Given the description of an element on the screen output the (x, y) to click on. 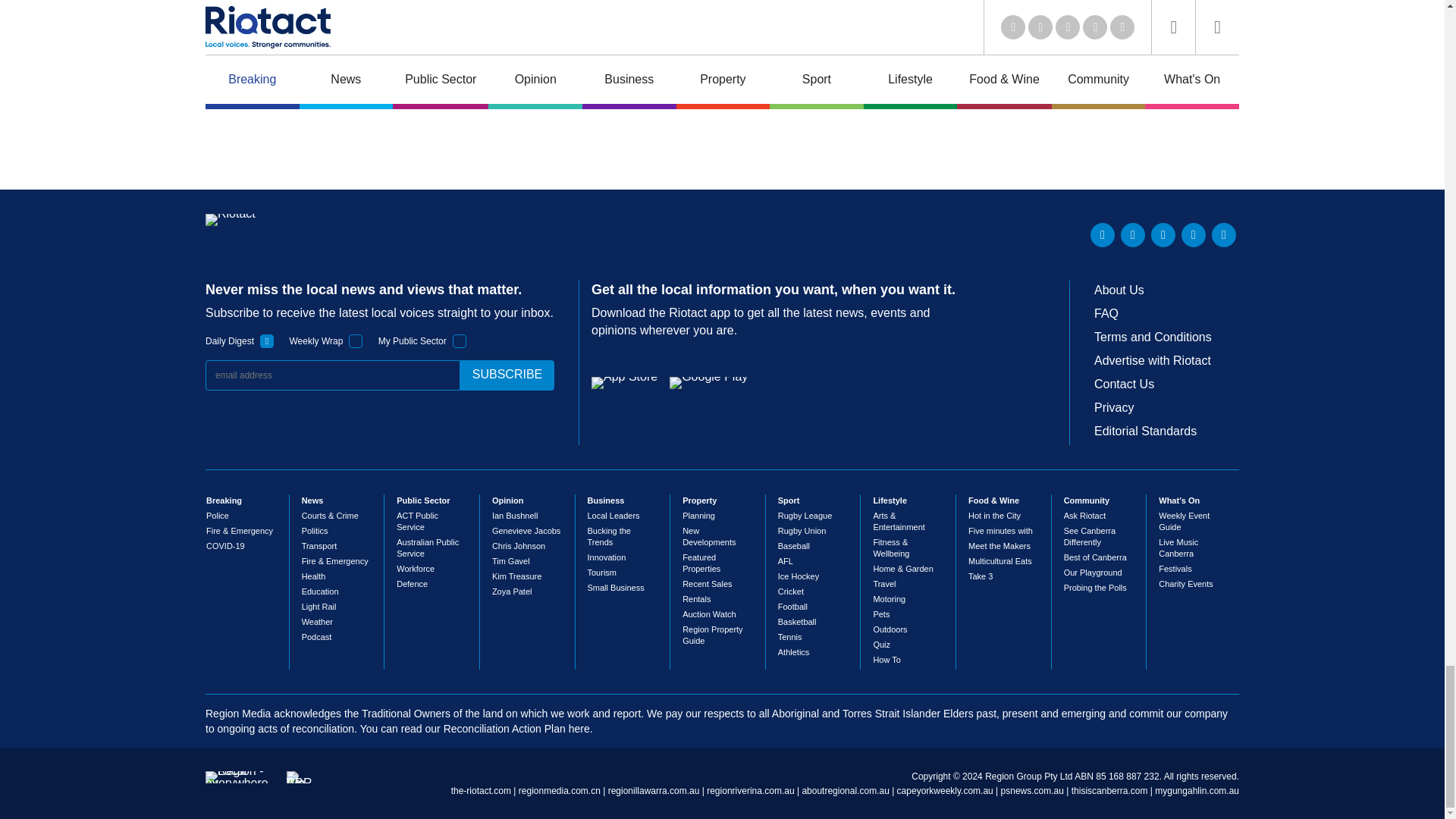
subscribe (507, 375)
1 (458, 341)
App Store (624, 382)
LinkedIn (1102, 234)
Facebook (1192, 234)
Twitter (1132, 234)
1 (355, 341)
Instagram (1223, 234)
1 (266, 341)
Youtube (1162, 234)
